Given the description of an element on the screen output the (x, y) to click on. 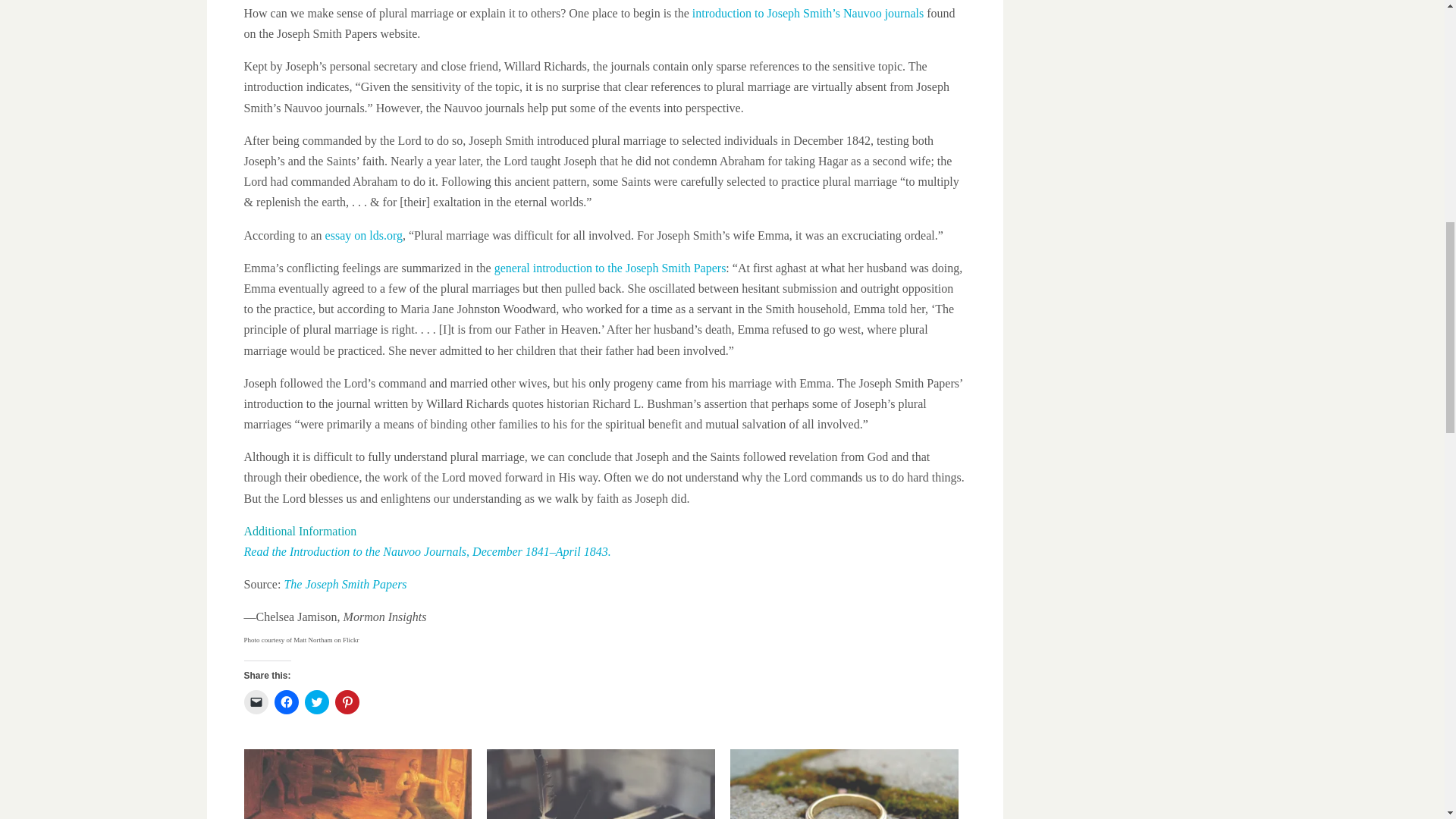
The Joseph Smith Papers (344, 584)
essay on lds.org (363, 235)
Click to share on Facebook (286, 702)
The First Mormon Government: The Council of Fifty (600, 784)
Click to share on Twitter (316, 702)
Additional Information (300, 530)
Click to email a link to a friend (255, 702)
general introduction to the Joseph Smith Papers (610, 267)
Click to share on Pinterest (346, 702)
